Given the description of an element on the screen output the (x, y) to click on. 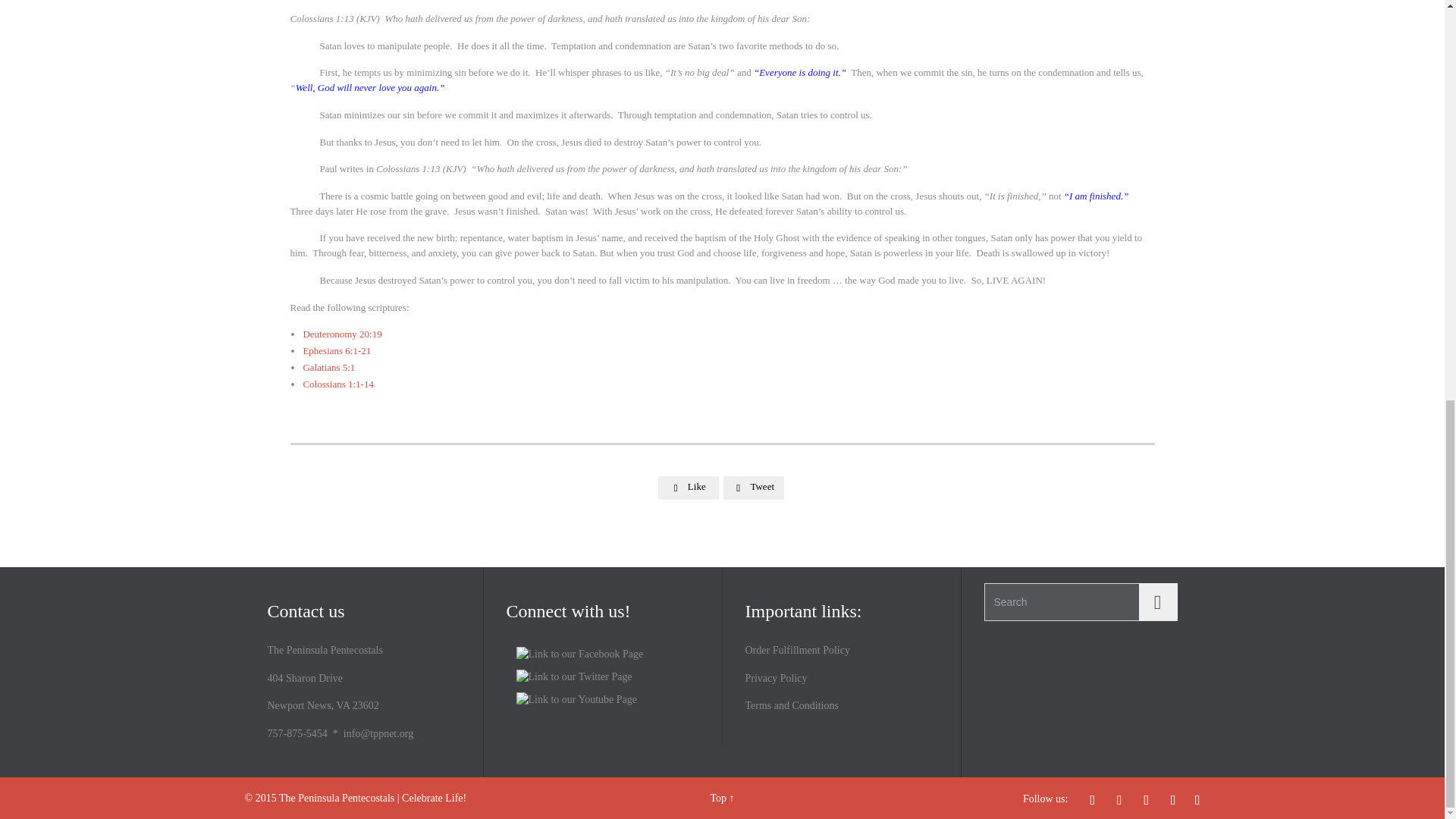
Ephesians 6:1-21 (336, 350)
Link to our Youtube Page (576, 699)
Terms and Conditions (791, 705)
Privacy Policy (775, 677)
Order Fulfillment Policy (796, 650)
Link to our Twitter Page (573, 676)
Top (718, 797)
Search (1156, 601)
Galatians 5:1 (328, 367)
Share on Twitter (753, 486)
